Given the description of an element on the screen output the (x, y) to click on. 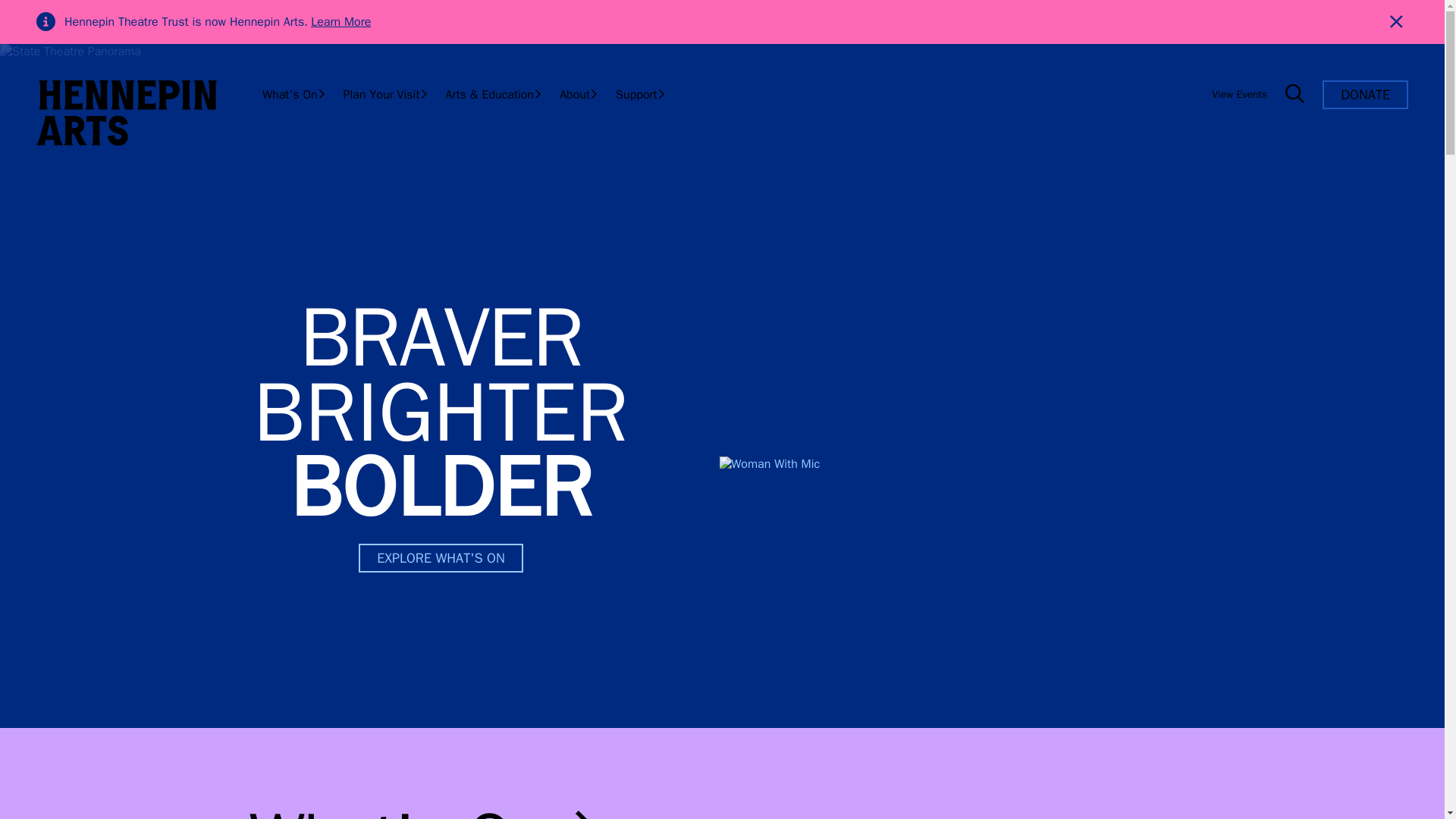
What's On (427, 806)
View Events (1239, 94)
DONATE (1364, 94)
Support (640, 94)
Learn More (341, 21)
What's On (293, 94)
EXPLORE WHAT'S ON (440, 557)
Plan Your Visit (385, 94)
About (578, 94)
